Given the description of an element on the screen output the (x, y) to click on. 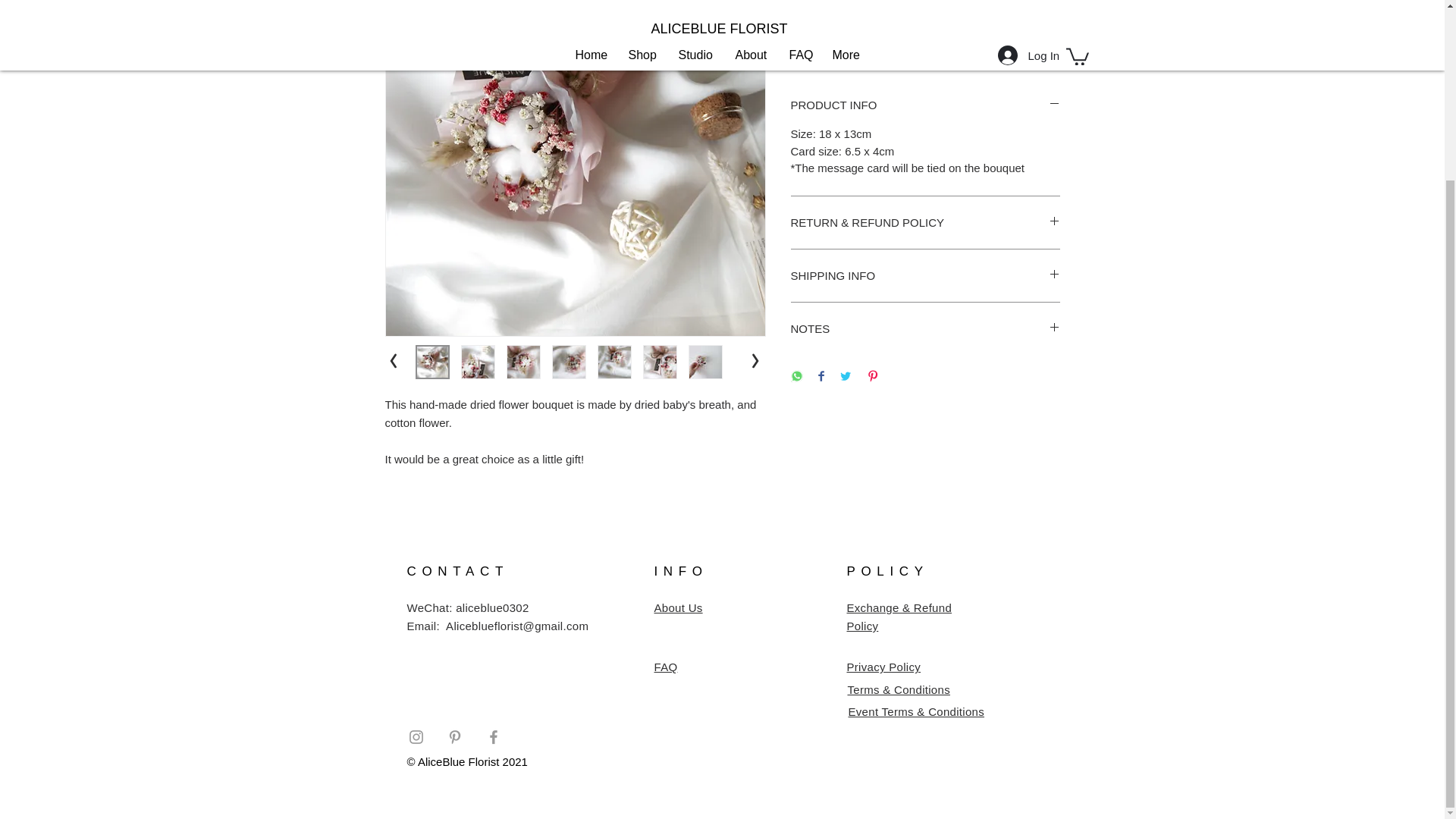
PRODUCT INFO (924, 105)
SHIPPING INFO (924, 275)
Out of Stock (924, 45)
